Given the description of an element on the screen output the (x, y) to click on. 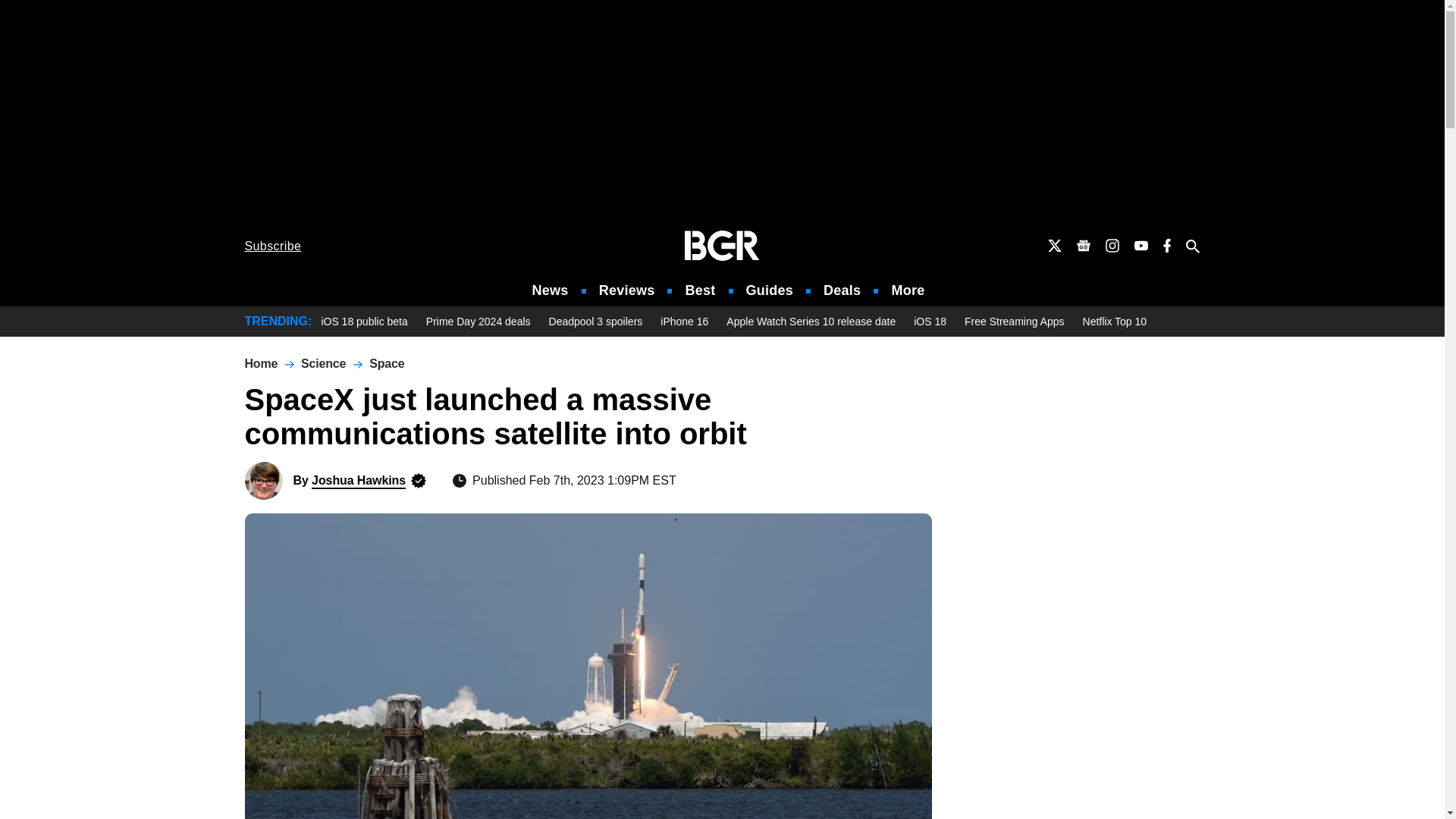
Deals (842, 290)
More (907, 290)
Subscribe (272, 245)
Best (699, 290)
Posts by Joshua Hawkins (358, 480)
Reviews (626, 290)
Guides (769, 290)
News (550, 290)
